Given the description of an element on the screen output the (x, y) to click on. 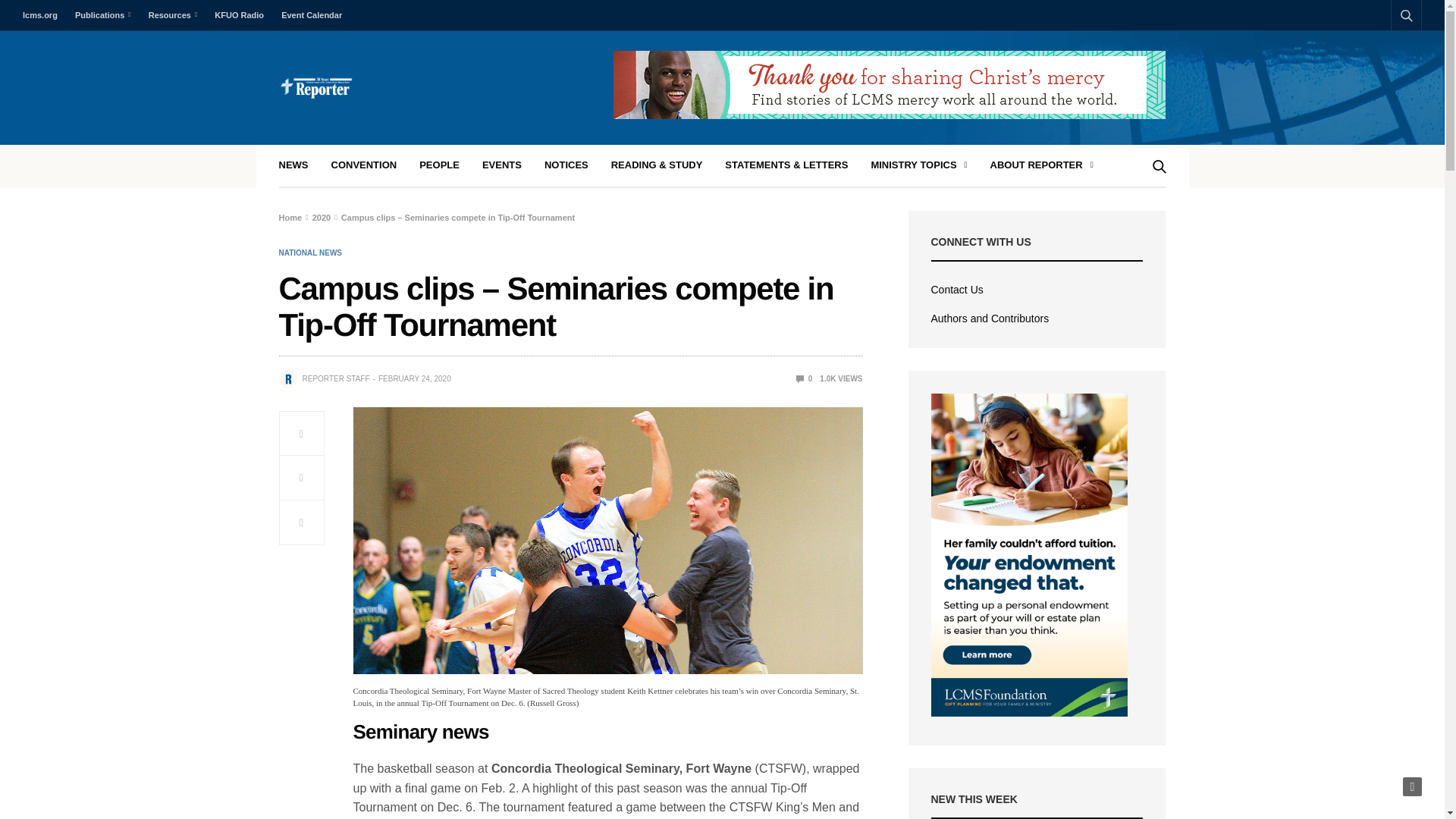
National News (310, 253)
Posts by Reporter Staff (335, 378)
lcms.org (44, 15)
Publications (102, 15)
